Given the description of an element on the screen output the (x, y) to click on. 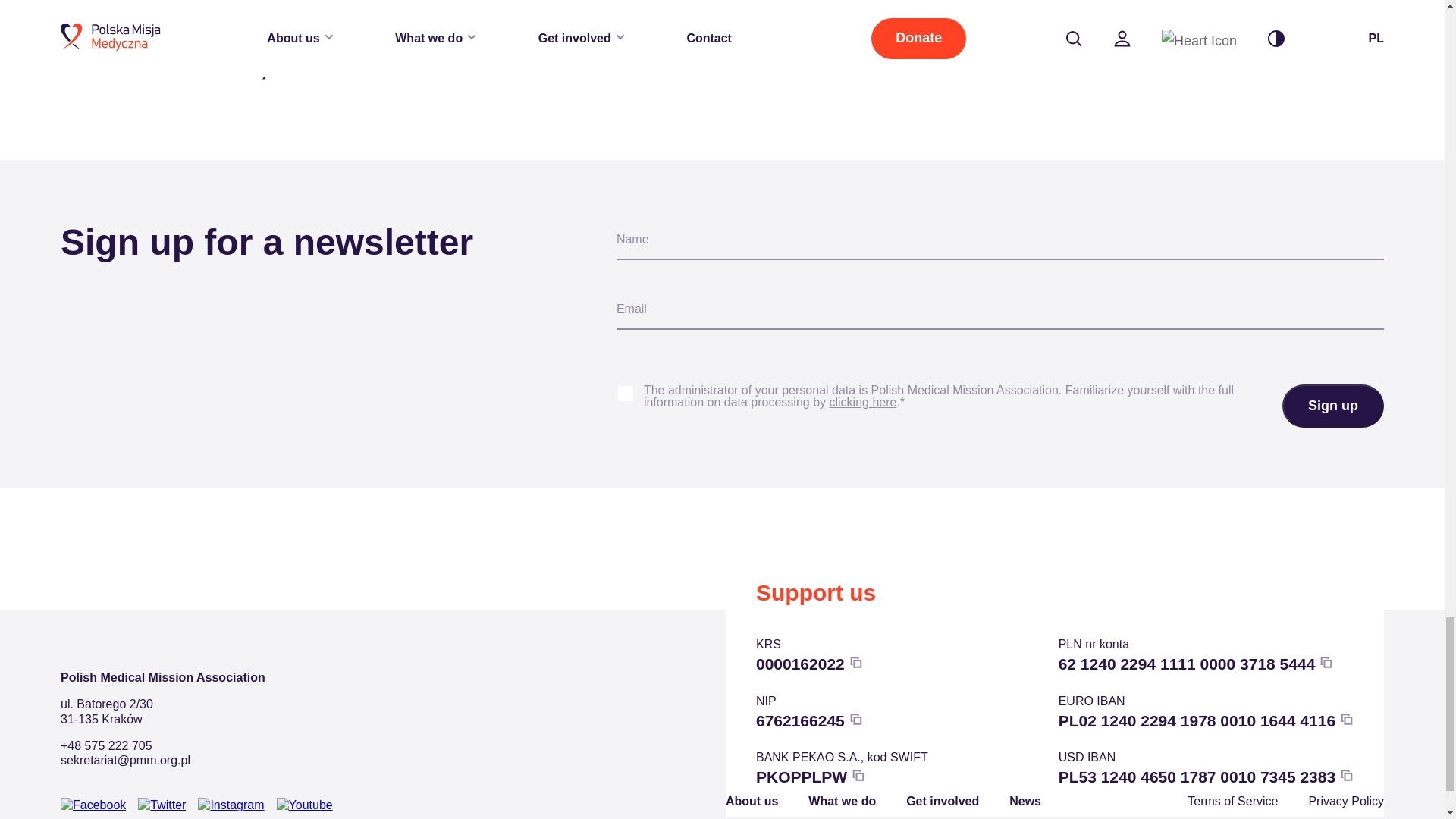
Sign up (1333, 406)
Instagram (230, 804)
Youtube (304, 804)
Facebook (93, 804)
Twitter (162, 804)
